Given the description of an element on the screen output the (x, y) to click on. 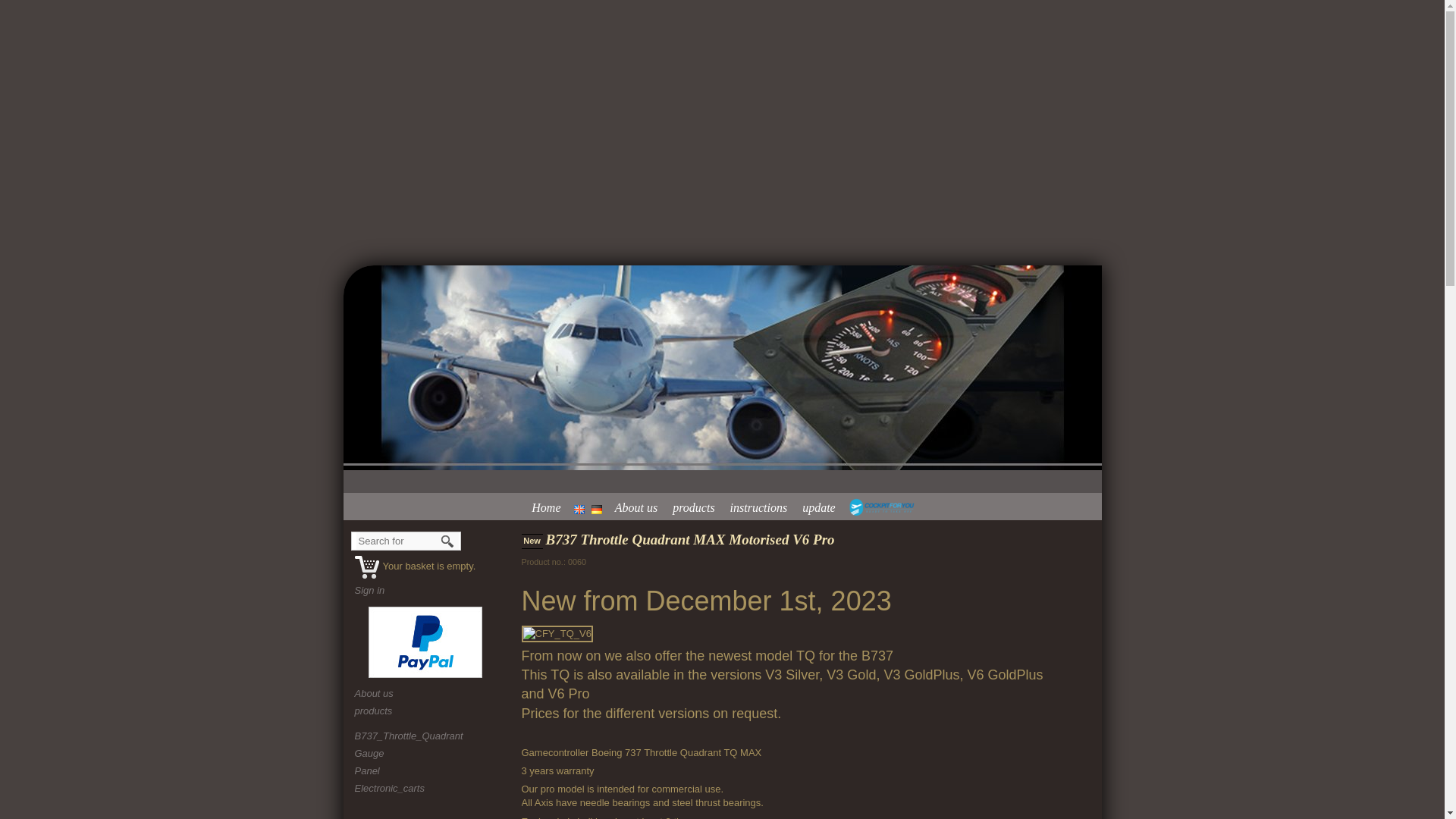
About us (427, 694)
update (822, 506)
Start search (448, 541)
About us (639, 506)
products (697, 506)
Gauge (369, 753)
Sign in (370, 590)
products (427, 711)
Home (549, 506)
This shop supports payment via PayPal. (424, 642)
instructions (762, 506)
Panel (367, 770)
